Given the description of an element on the screen output the (x, y) to click on. 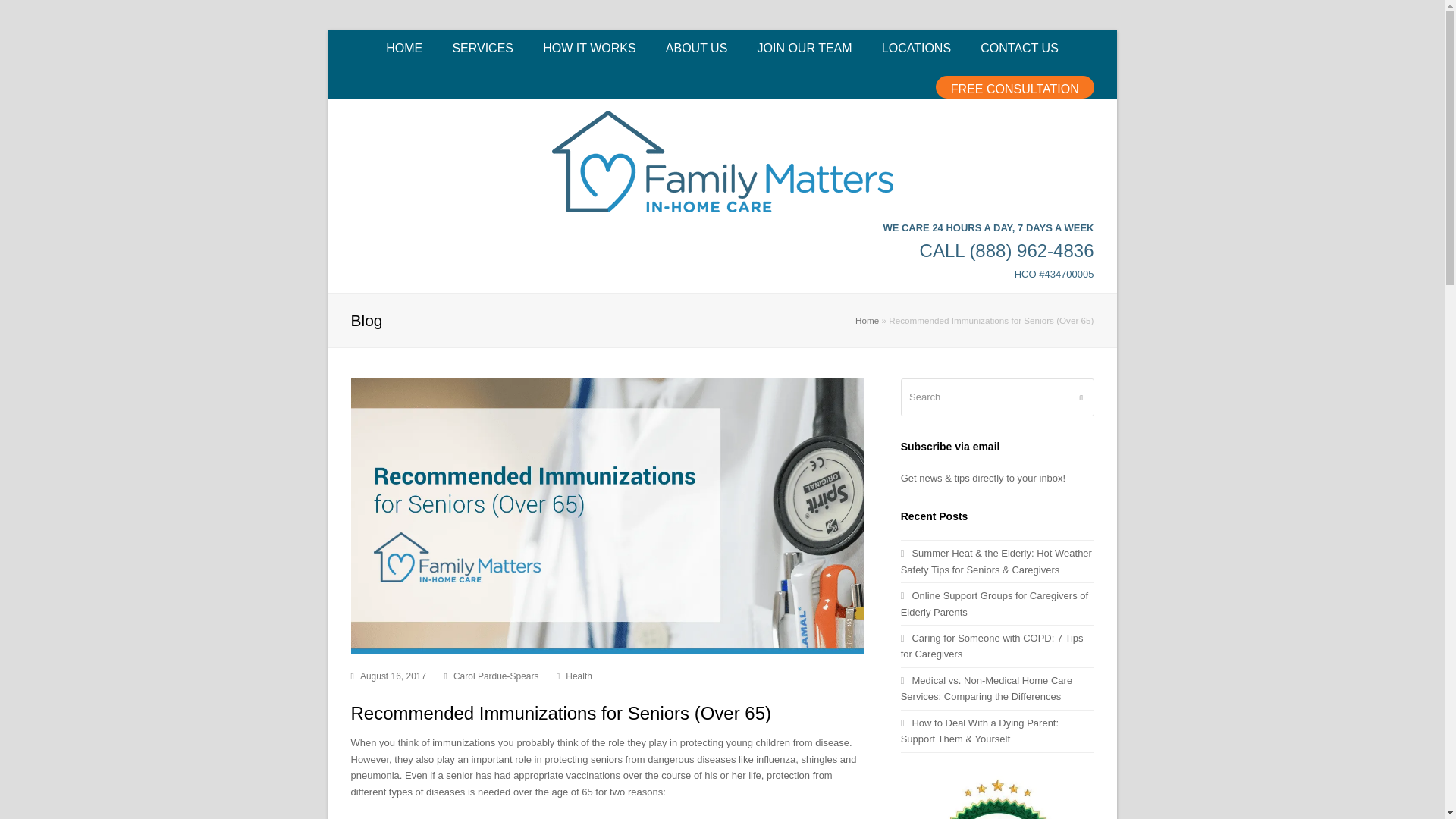
LOCATIONS (915, 48)
Home (867, 320)
ABOUT US (696, 48)
Health (579, 675)
Carol Pardue-Spears (495, 675)
HOME (403, 48)
SERVICES (483, 48)
Posts by Carol Pardue-Spears (495, 675)
JOIN OUR TEAM (805, 48)
CONTACT US (1019, 48)
